Given the description of an element on the screen output the (x, y) to click on. 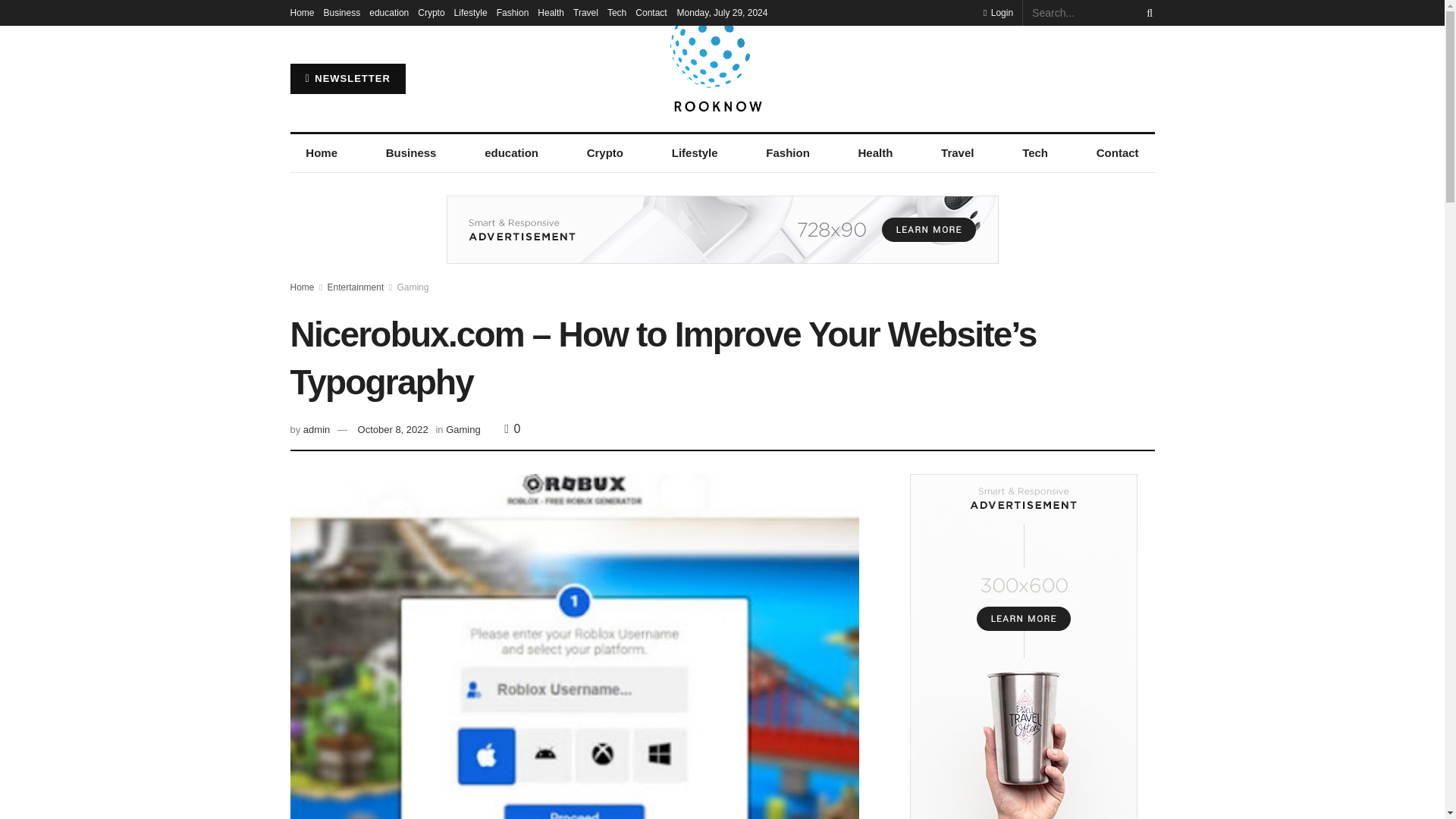
Fashion (787, 152)
Lifestyle (694, 152)
Contact (650, 12)
Crypto (604, 152)
Contact (1117, 152)
Travel (585, 12)
Health (875, 152)
Health (550, 12)
Home (320, 152)
Travel (957, 152)
Login (998, 12)
Business (342, 12)
Lifestyle (470, 12)
Business (410, 152)
NEWSLETTER (346, 78)
